Given the description of an element on the screen output the (x, y) to click on. 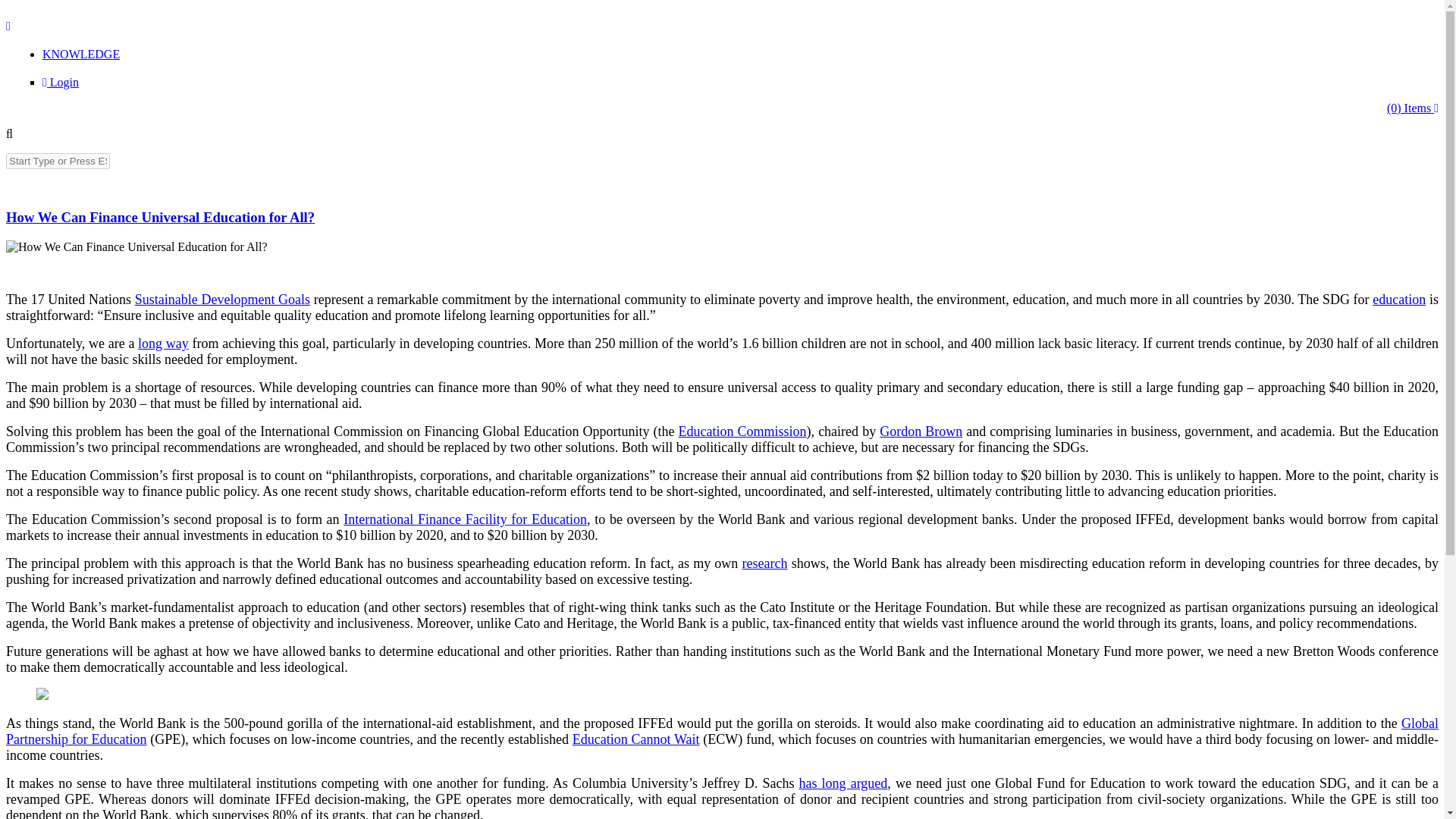
education (1399, 299)
Education Cannot Wait (636, 739)
Gordon Brown (920, 431)
Sustainable Development Goals (222, 299)
KNOWLEDGE (80, 53)
Enter the terms you wish to search for. (57, 160)
research (764, 563)
International Finance Facility for Education (464, 519)
long way (163, 343)
How We Can Finance Universal Education for All? (136, 246)
worldeducation2.jpg (85, 265)
has long argued (843, 783)
Education Commission (742, 431)
How We Can Finance Universal Education for All? (159, 217)
